Given the description of an element on the screen output the (x, y) to click on. 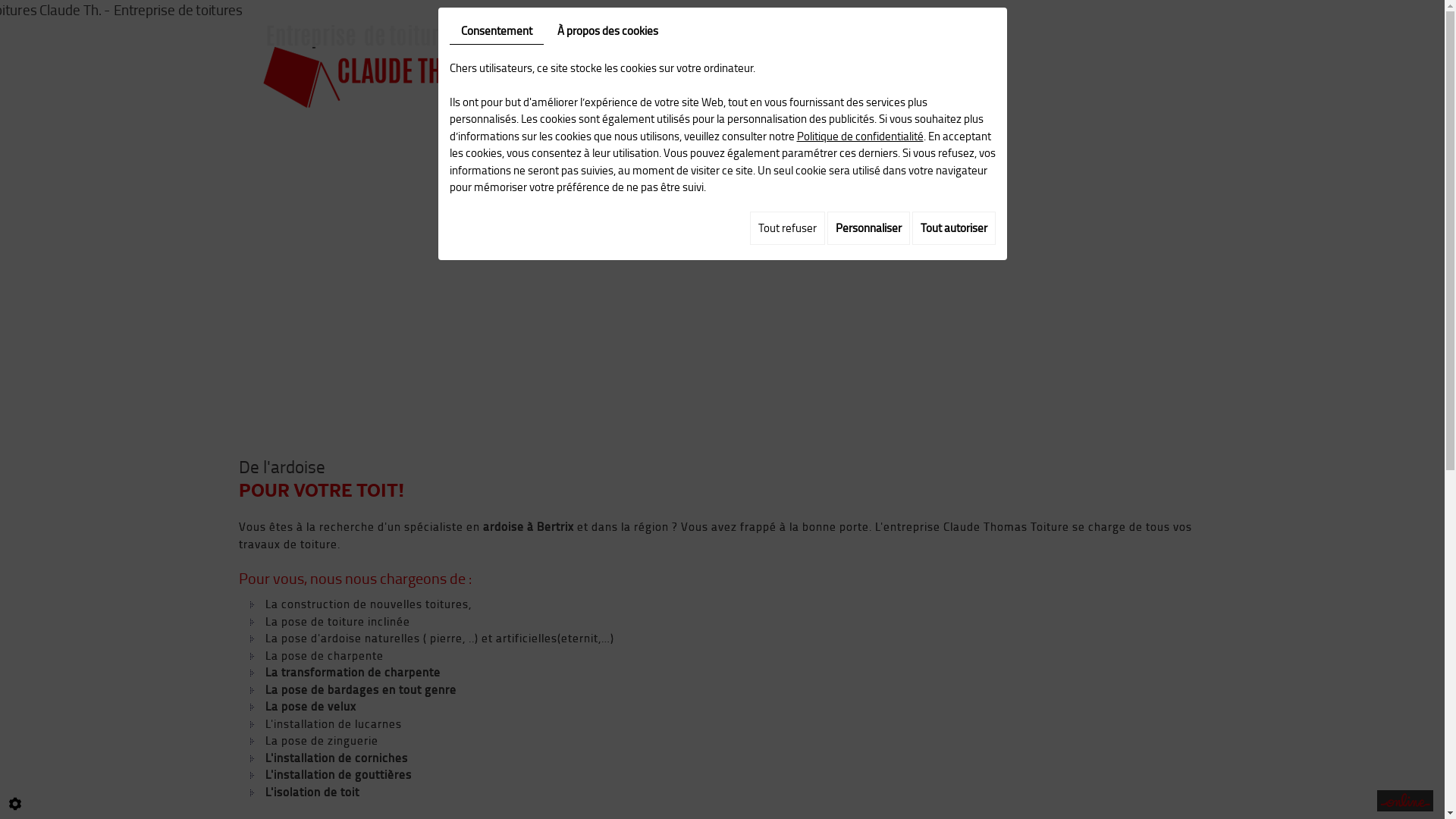
Personnaliser Element type: text (867, 227)
Consentement Element type: text (495, 31)
Tout refuser Element type: text (786, 227)
NOUVELLE TOITURE Element type: text (811, 61)
ACCUEIL Element type: text (708, 61)
Tout autoriser Element type: text (952, 227)
CONTACT Element type: text (1172, 61)
Contactez-nous au
0497 64 06 35 Element type: text (722, 212)
